Given the description of an element on the screen output the (x, y) to click on. 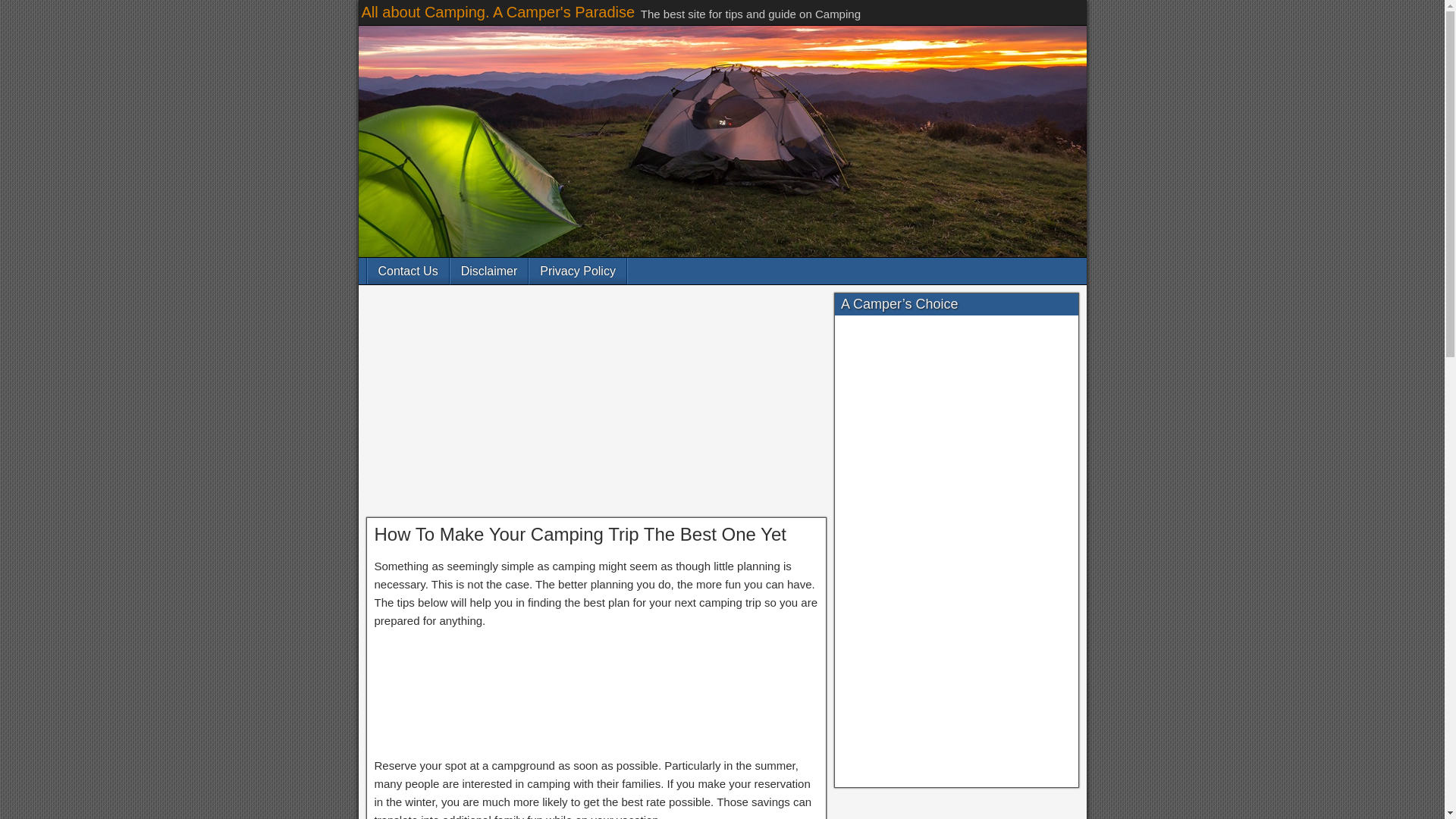
All about Camping. A Camper's Paradise (497, 12)
Advertisement (596, 404)
Contact Us (407, 270)
How To Make Your Camping Trip The Best One Yet (580, 534)
Disclaimer (488, 270)
Privacy Policy (577, 270)
Advertisement (596, 695)
